Given the description of an element on the screen output the (x, y) to click on. 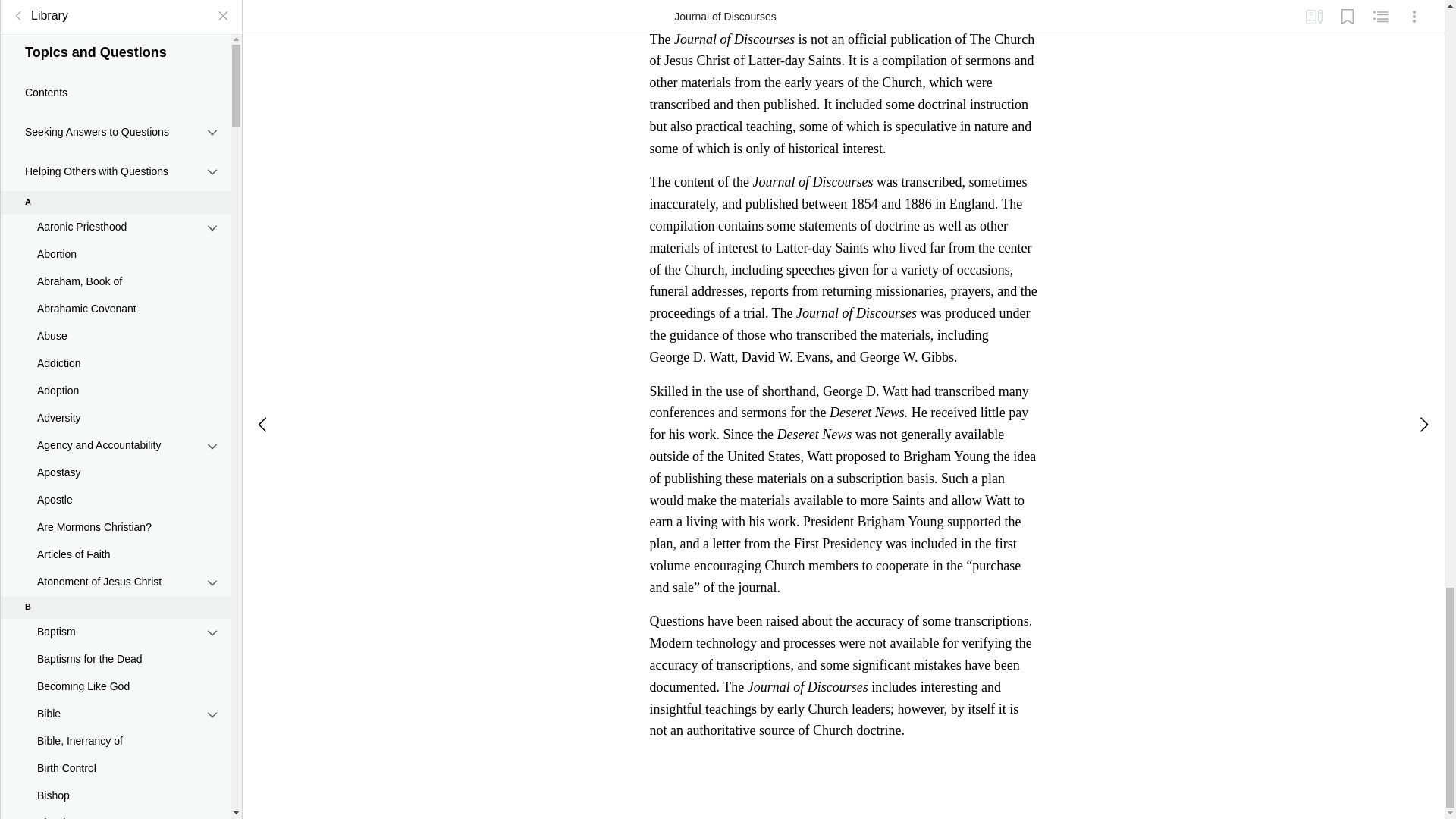
Book of Mormon and DNA Studies (115, 396)
Apostasy (115, 2)
Celestial Kingdom (115, 501)
Children of God (115, 583)
Becoming Like God (115, 205)
Church Organization (115, 706)
Apostle (115, 18)
Book of Mormon Translation (115, 451)
Baptisms for the Dead (115, 177)
Book of Mormon Geography (115, 423)
Citizenship (115, 733)
Christmas (115, 610)
Blessing (115, 341)
Articles of Faith (115, 72)
Bishop (115, 314)
